Given the description of an element on the screen output the (x, y) to click on. 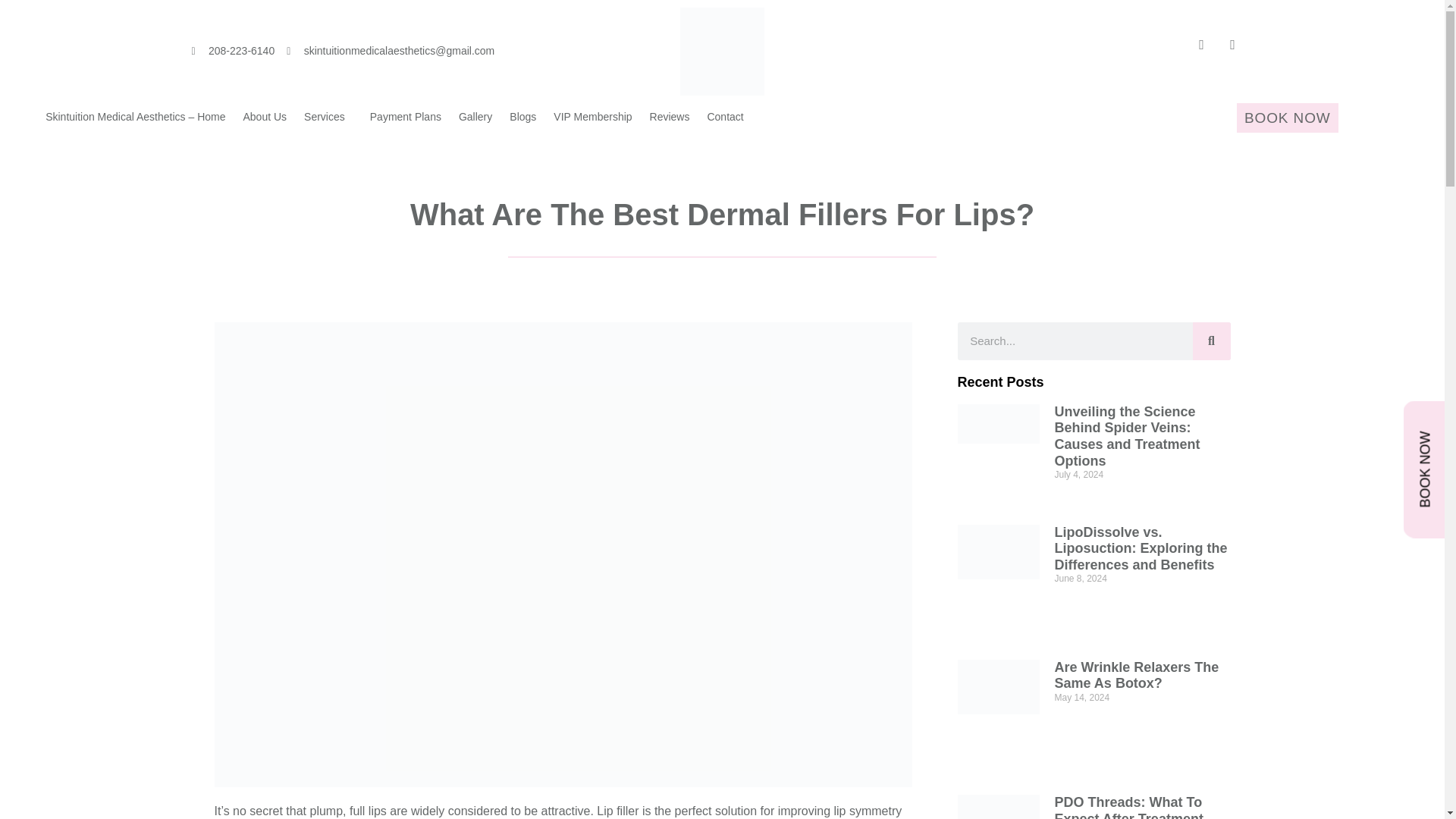
BOOK NOW (1287, 117)
Payment Plans (406, 116)
Gallery (476, 116)
Reviews (670, 116)
208-223-6140 (232, 50)
About Us (264, 116)
Blogs (522, 116)
Services (328, 116)
VIP Membership (592, 116)
Contact (724, 116)
